Given the description of an element on the screen output the (x, y) to click on. 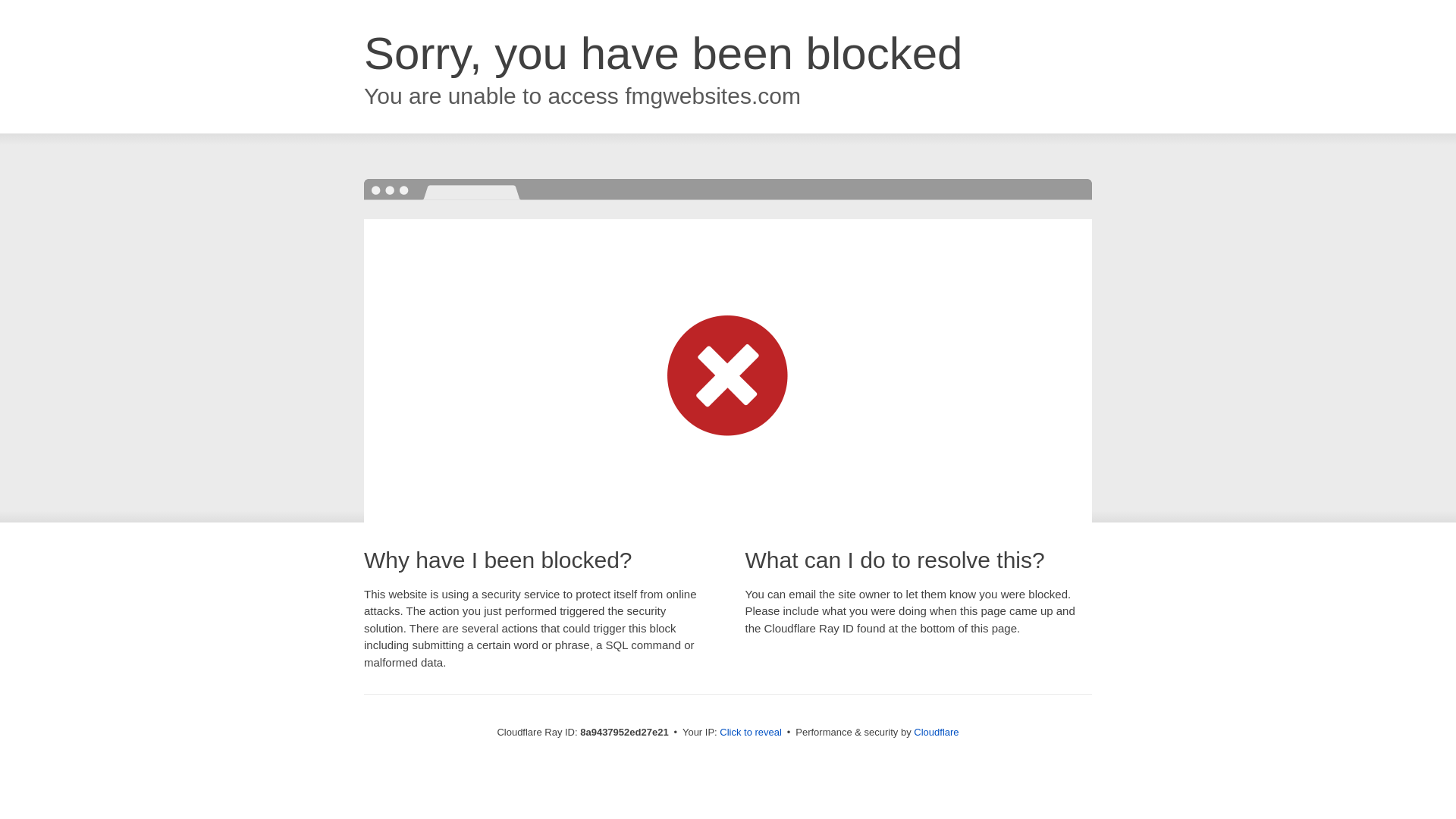
Cloudflare (936, 731)
Click to reveal (750, 732)
